Given the description of an element on the screen output the (x, y) to click on. 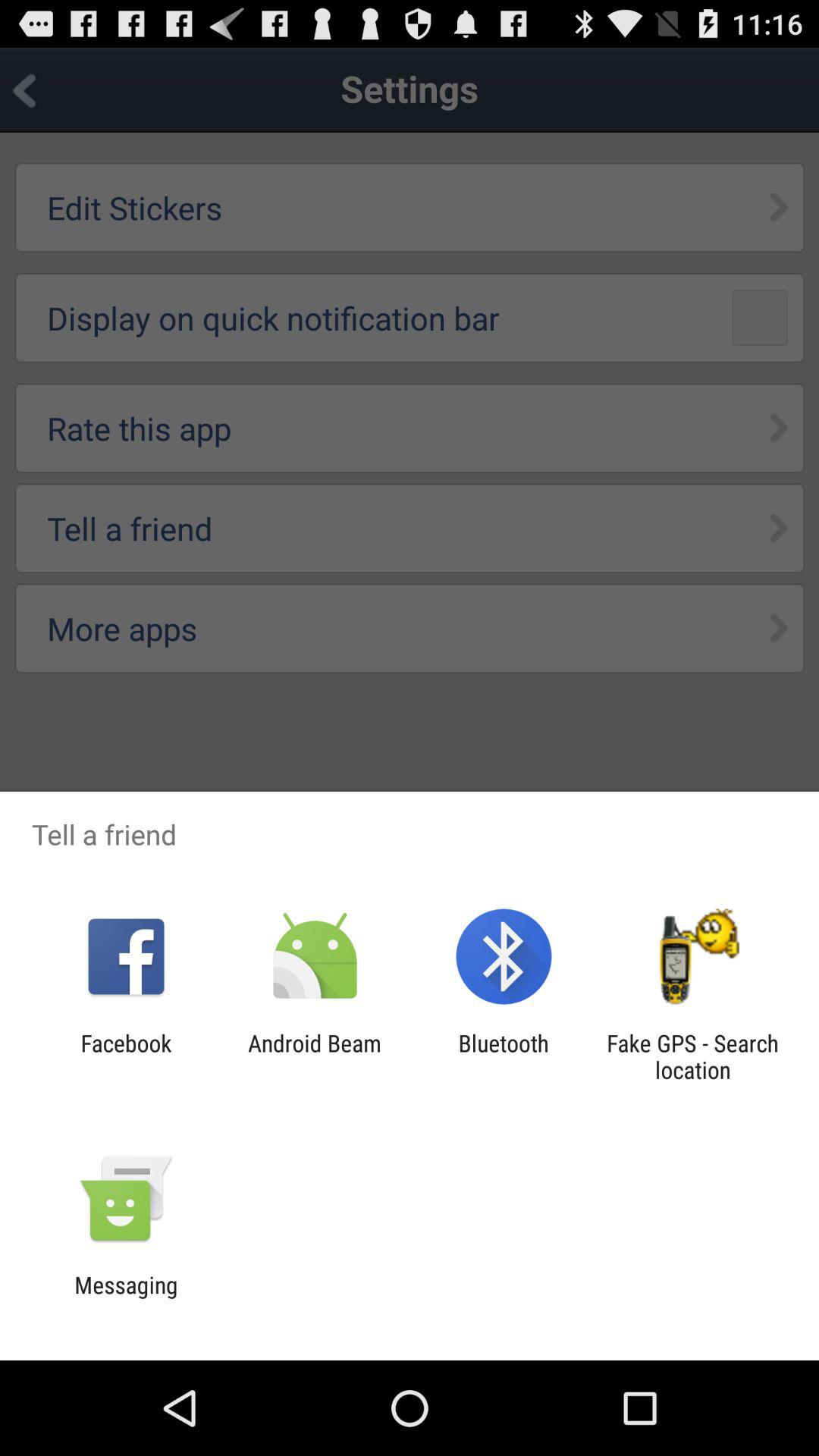
select the item to the right of the bluetooth app (692, 1056)
